Given the description of an element on the screen output the (x, y) to click on. 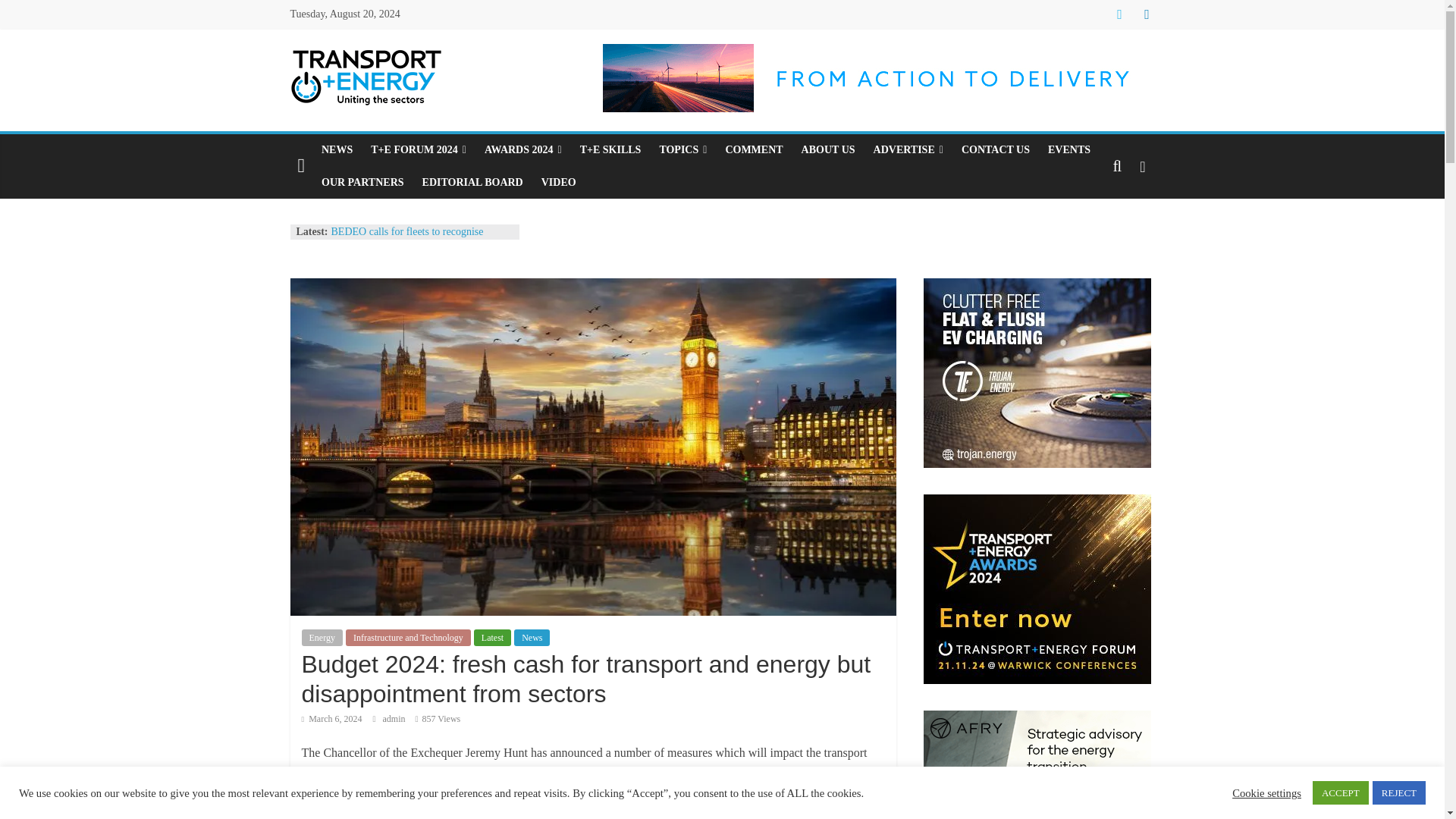
AWARDS 2024 (523, 150)
COMMENT (754, 150)
3:39 pm (331, 718)
TOPICS (682, 150)
admin (394, 718)
NEWS (337, 150)
ABOUT US (828, 150)
